Given the description of an element on the screen output the (x, y) to click on. 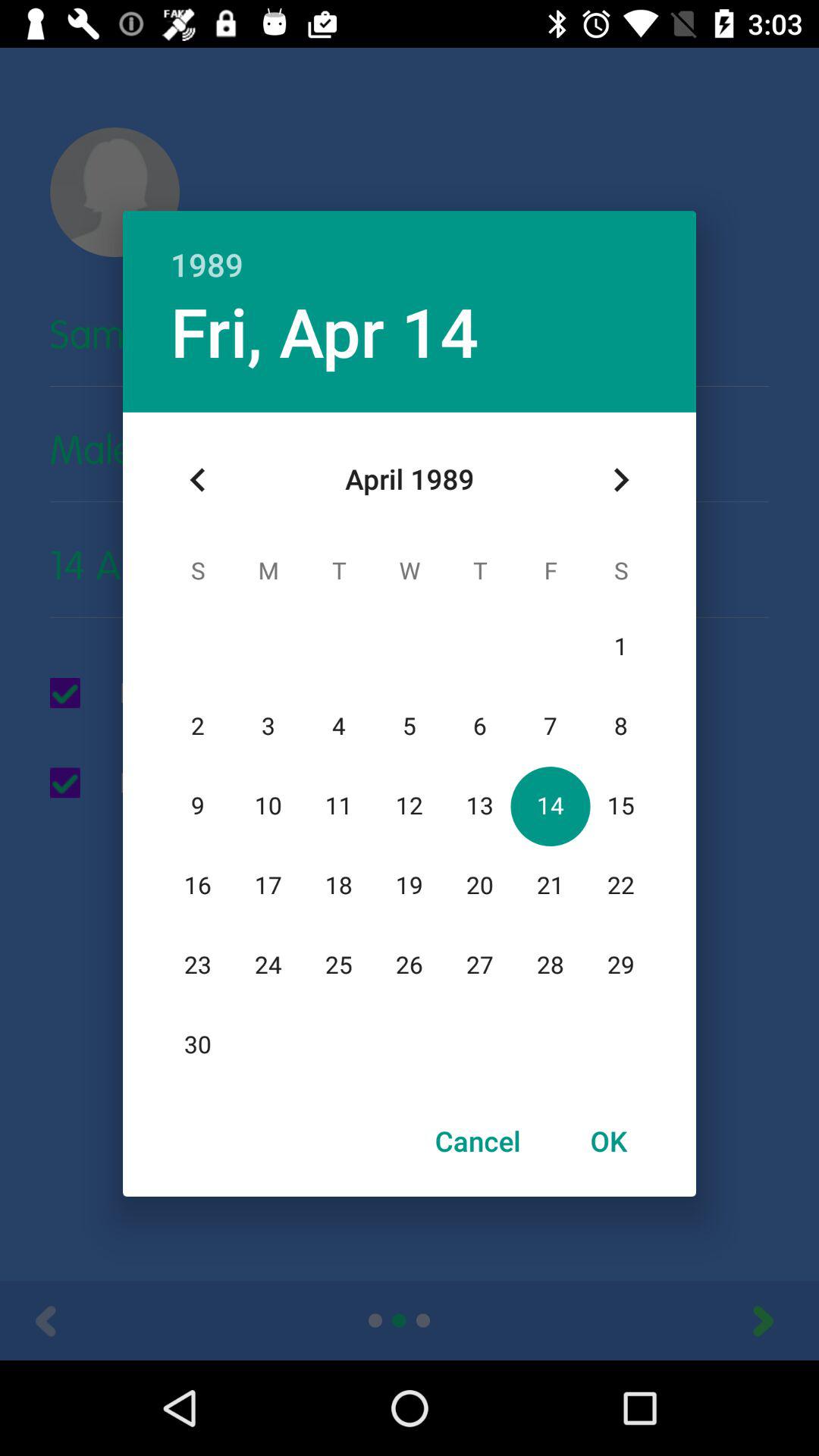
choose item to the right of cancel item (608, 1140)
